Given the description of an element on the screen output the (x, y) to click on. 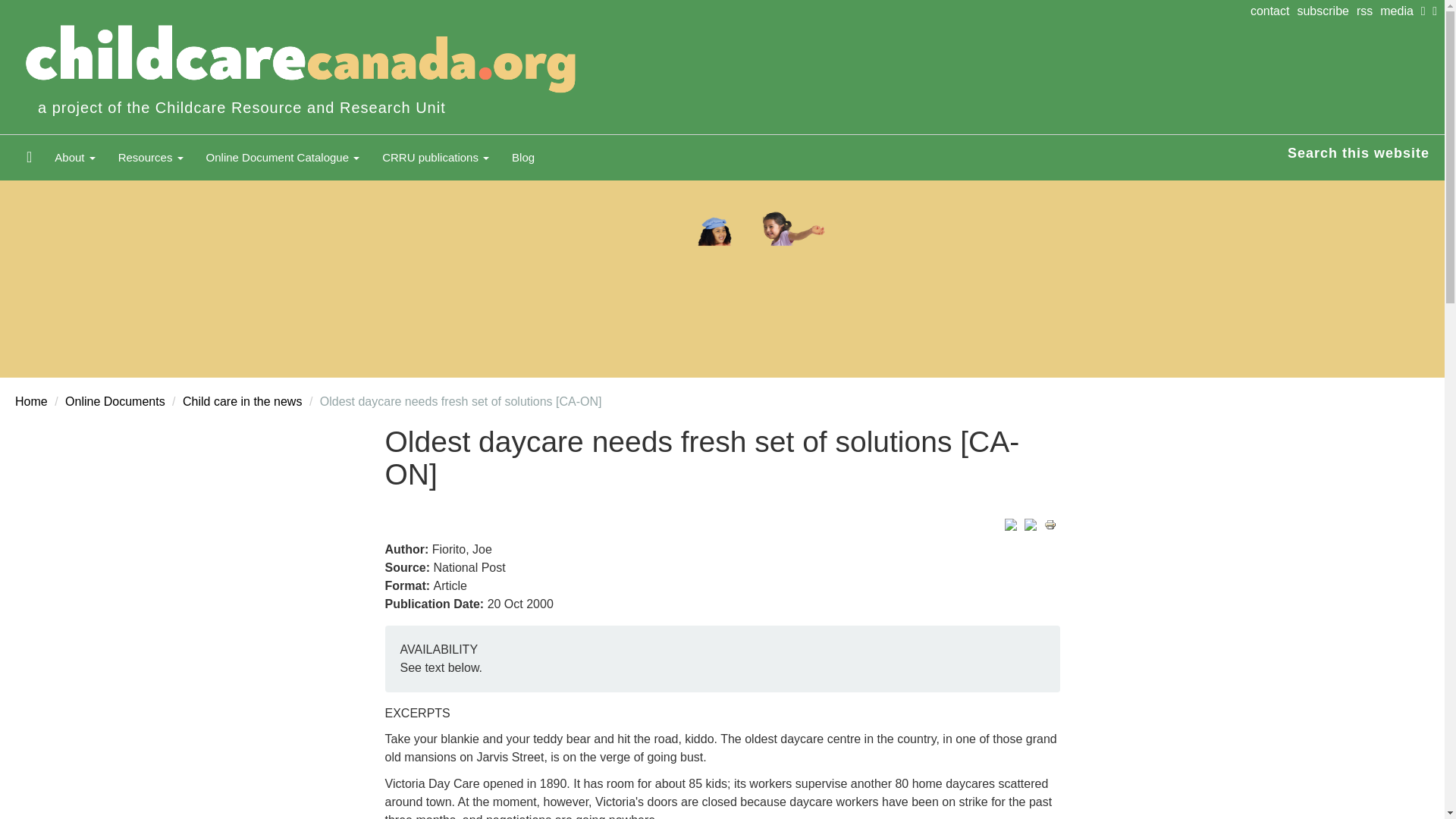
CRRU publications (435, 157)
rss (1368, 11)
About the CRRU (74, 157)
Contact the Childcare Resource and Research Unit (1273, 11)
Resources for media, including media releases (1400, 11)
Browse key CRRU resource areas (150, 157)
Online Document Catalogue (283, 157)
media (1400, 11)
About (74, 157)
